Given the description of an element on the screen output the (x, y) to click on. 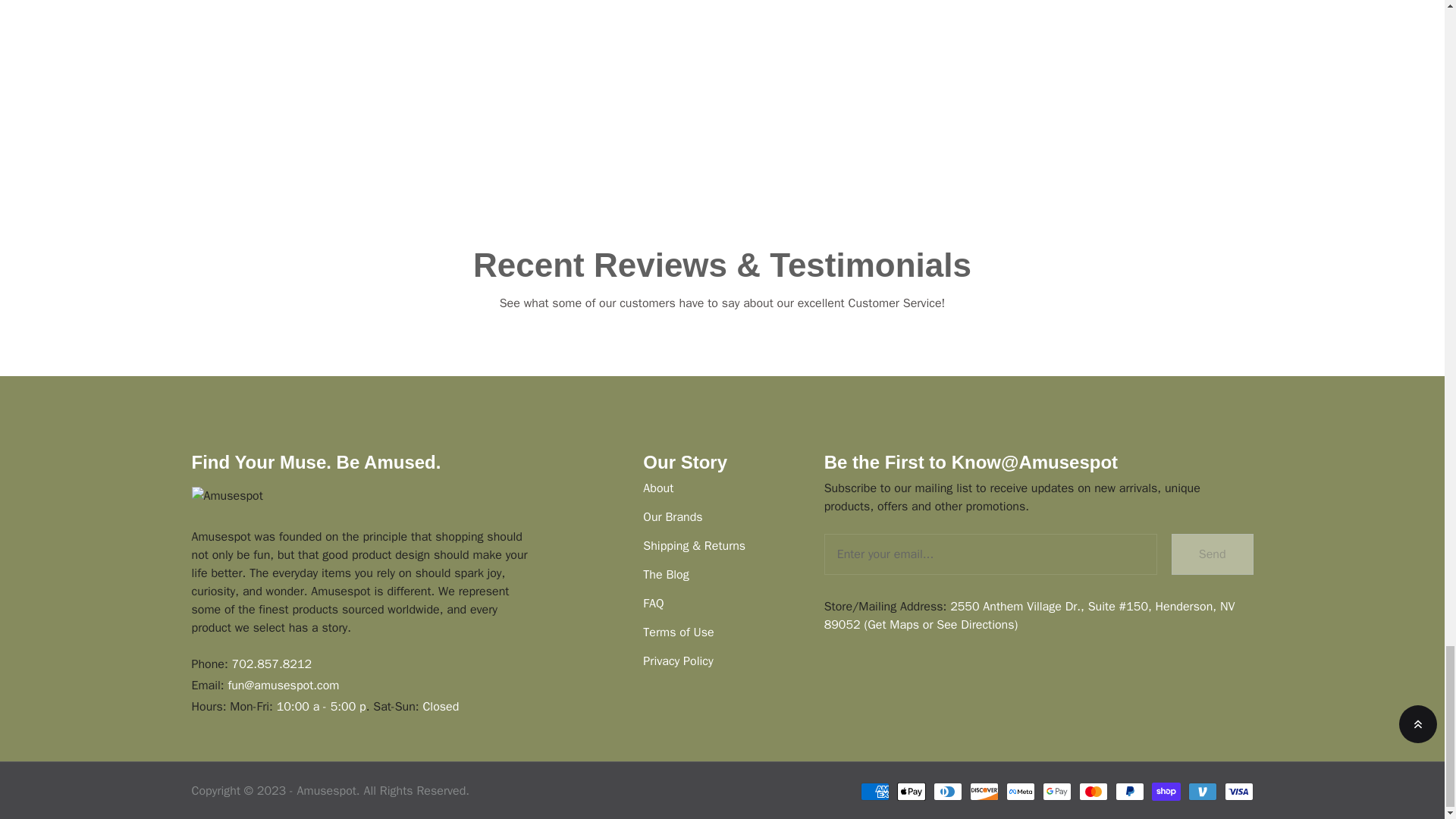
Discover (983, 791)
Google Pay (1056, 791)
Mastercard (1092, 791)
Apple Pay (910, 791)
American Express (874, 791)
Meta Pay (1019, 791)
Diners Club (946, 791)
